Given the description of an element on the screen output the (x, y) to click on. 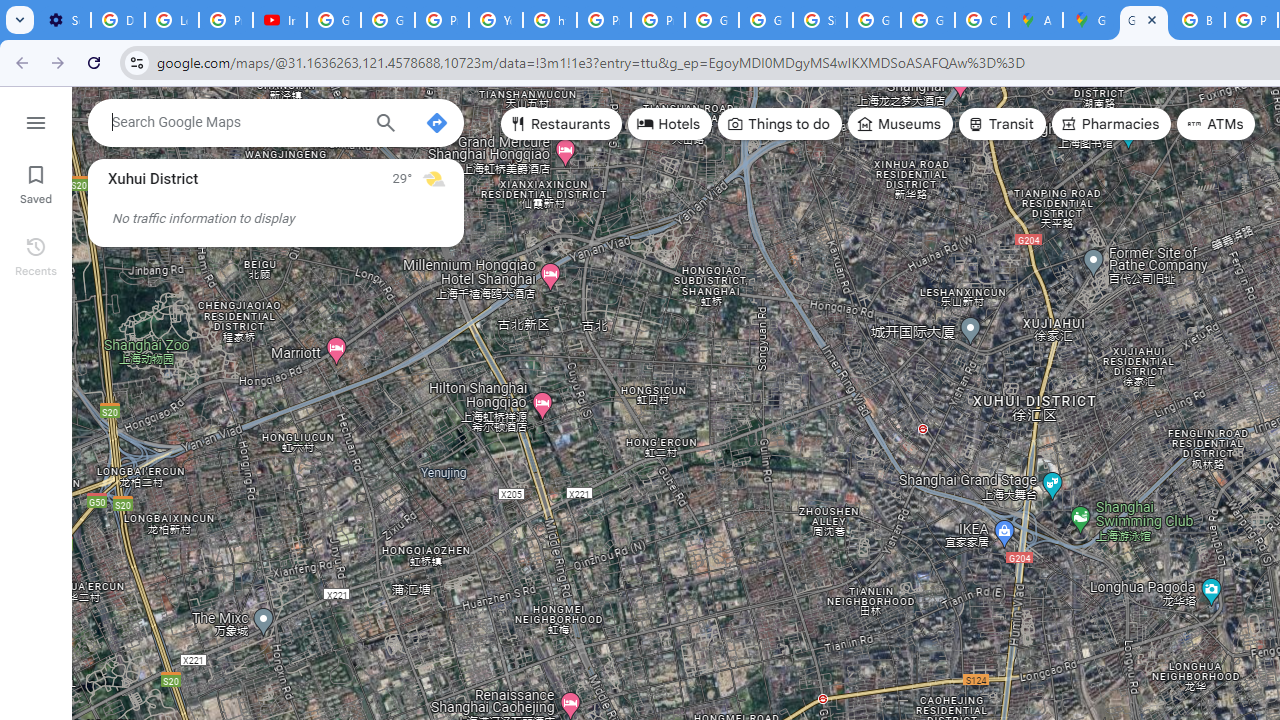
Blogger Policies and Guidelines - Transparency Center (1197, 20)
Google Account Help (333, 20)
Delete photos & videos - Computer - Google Photos Help (117, 20)
Google Account Help (387, 20)
Google Maps (1089, 20)
https://scholar.google.com/ (550, 20)
Sign in - Google Accounts (819, 20)
Settings - Customize profile (63, 20)
Partly cloudy (433, 178)
Saved (35, 182)
